Given the description of an element on the screen output the (x, y) to click on. 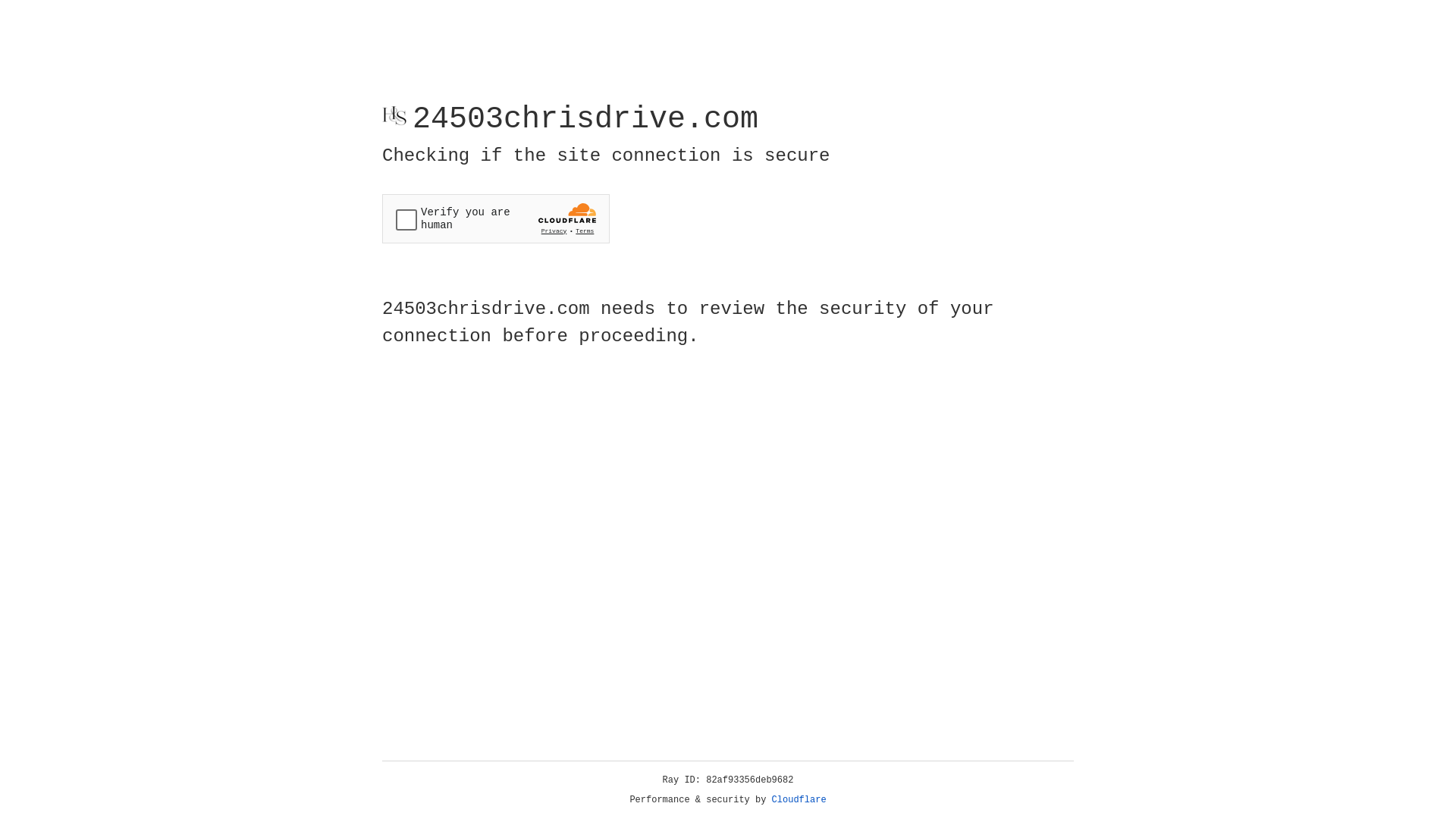
Cloudflare Element type: text (798, 799)
Widget containing a Cloudflare security challenge Element type: hover (495, 218)
